Given the description of an element on the screen output the (x, y) to click on. 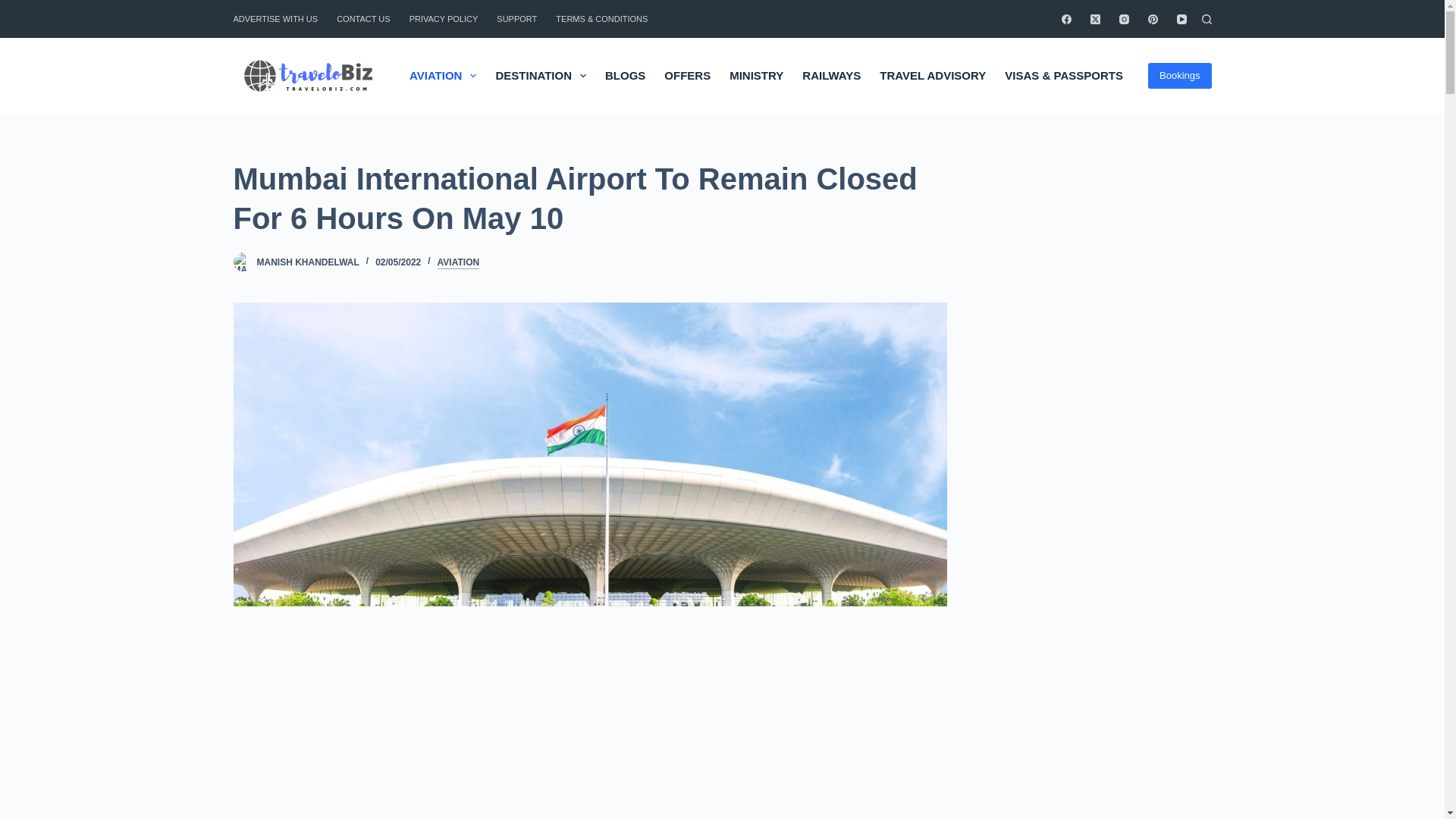
Skip to content (15, 7)
SUPPORT (517, 18)
CONTACT US (363, 18)
PRIVACY POLICY (442, 18)
ADVERTISE WITH US (279, 18)
Posts by Manish Khandelwal (307, 262)
